Given the description of an element on the screen output the (x, y) to click on. 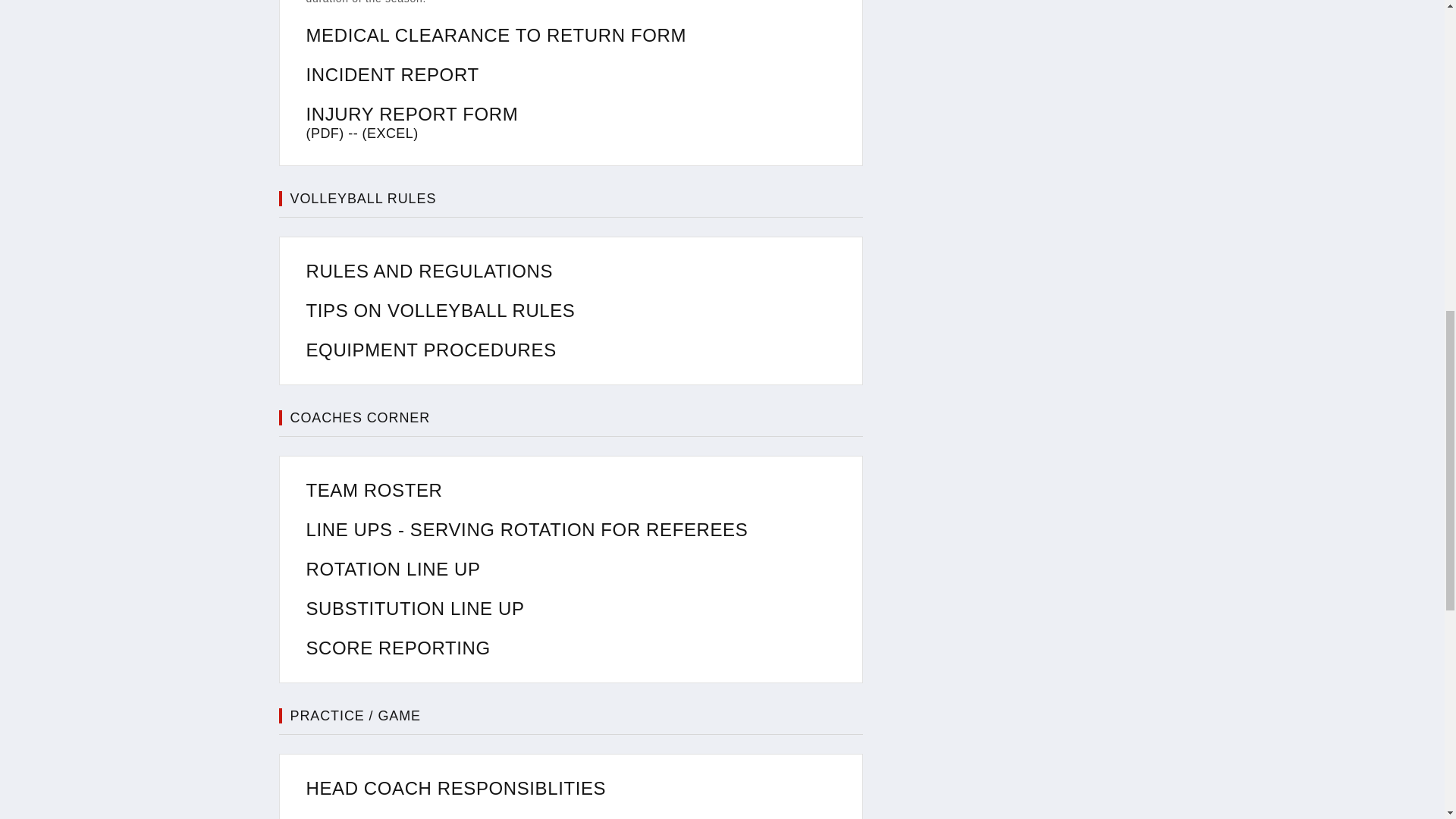
MEDICAL CLEARANCE TO RETURN FORM (496, 35)
INCIDENT REPORT (392, 74)
TIPS ON VOLLEYBALL RULES (440, 310)
INJURY REPORT FORM (411, 114)
RULES AND REGULATIONS (429, 271)
